Given the description of an element on the screen output the (x, y) to click on. 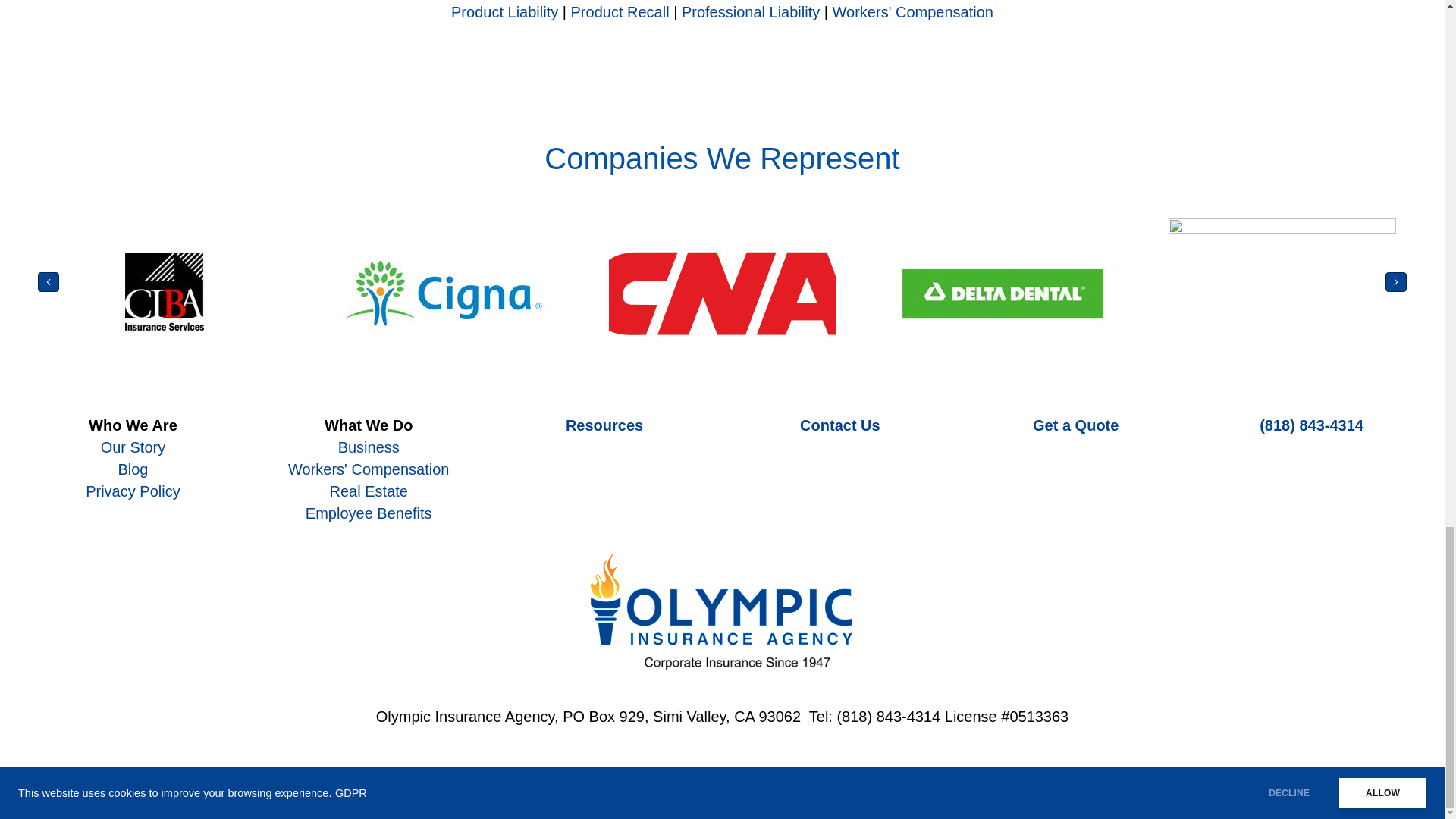
Olympic Insurance logo (722, 611)
